Given the description of an element on the screen output the (x, y) to click on. 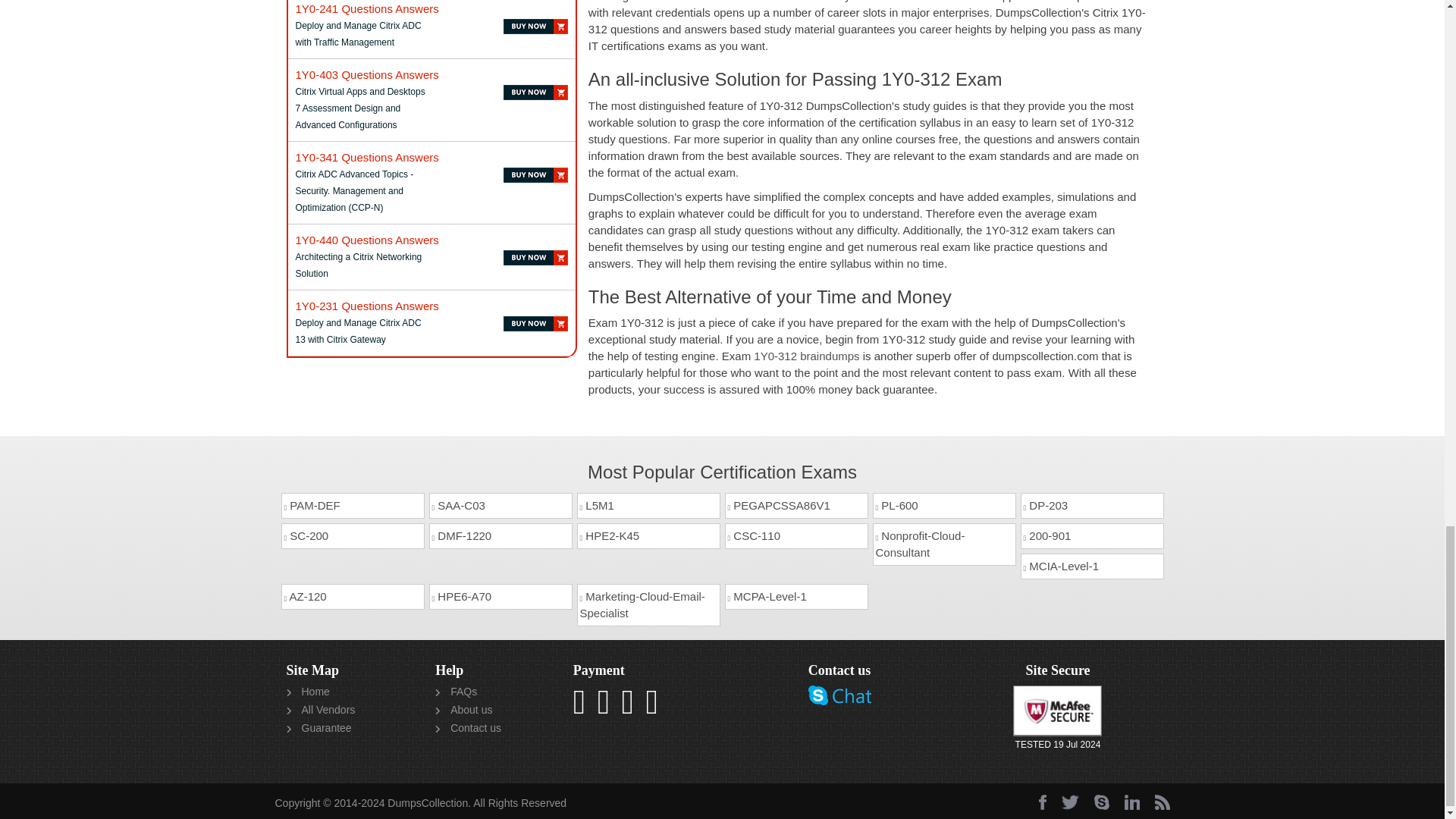
SC-200 (352, 535)
DMF-1220 (500, 535)
MCIA-Level-1 (1091, 566)
1Y0-403 Questions Answers (367, 74)
SAA-C03 (500, 505)
PEGAPCSSA86V1 (796, 505)
1Y0-312 braindumps (806, 355)
Deploy and Manage Citrix ADC 13 with Citrix Gateway (367, 305)
1Y0-440 Questions Answers (367, 239)
SC-200 (352, 535)
HPE2-K45 (647, 535)
DP-203 (1091, 505)
SAA-C03 (500, 505)
PL-600 (943, 505)
